Given the description of an element on the screen output the (x, y) to click on. 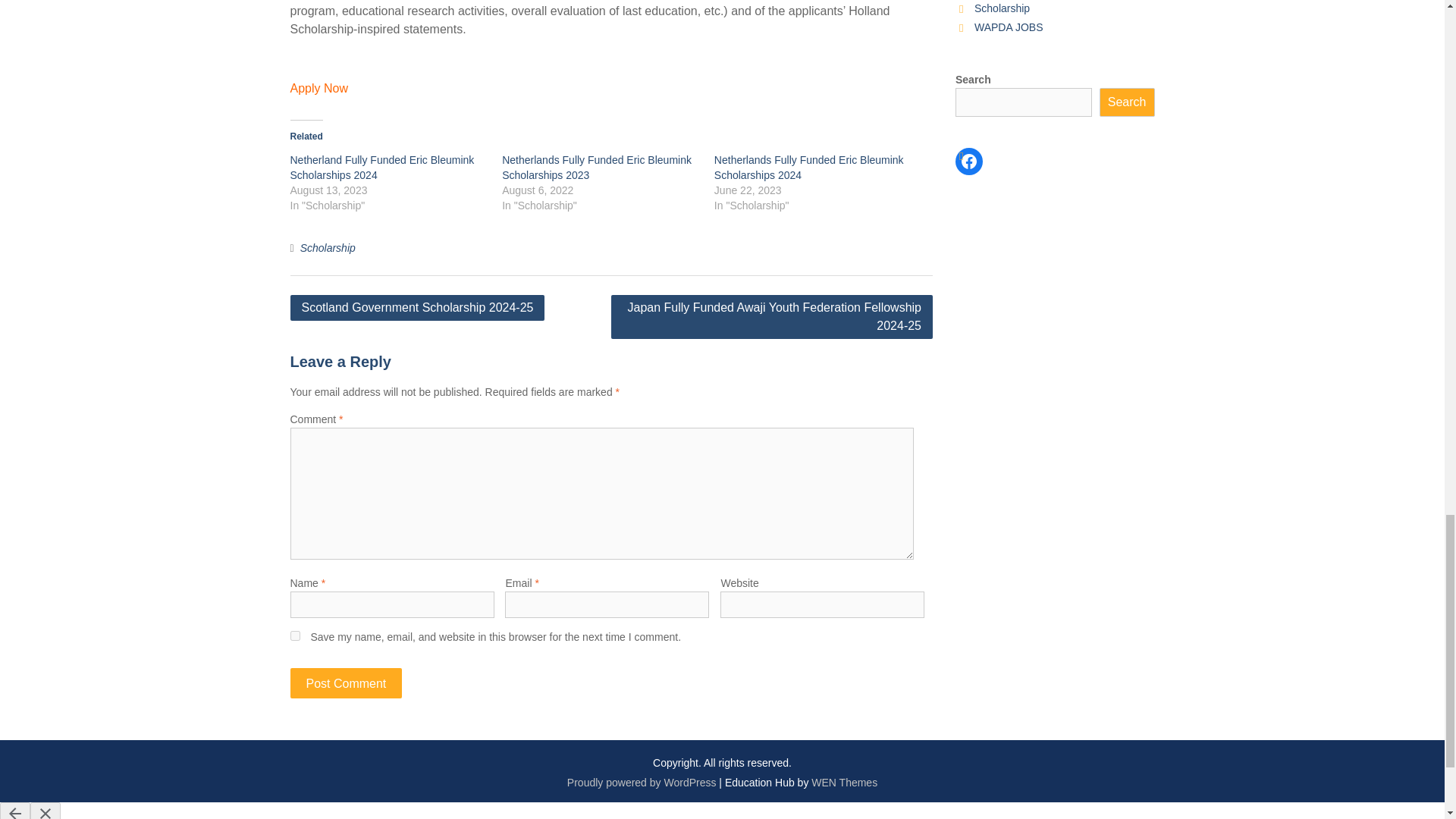
Japan Fully Funded Awaji Youth Federation Fellowship 2024-25 (772, 316)
Netherlands Fully Funded Eric Bleumink Scholarships 2024 (809, 166)
Netherlands Fully Funded Eric Bleumink Scholarships 2023 (596, 166)
Netherland Fully Funded Eric Bleumink Scholarships 2024 (381, 166)
Netherlands Fully Funded Eric Bleumink Scholarships 2024 (809, 166)
Netherland Fully Funded Eric Bleumink Scholarships 2024 (381, 166)
Post Comment (345, 683)
yes (294, 635)
Post Comment (345, 683)
Apply Now (318, 88)
Netherlands Fully Funded Eric Bleumink Scholarships 2023 (596, 166)
Scotland Government Scholarship 2024-25 (416, 307)
Scholarship (327, 247)
